Given the description of an element on the screen output the (x, y) to click on. 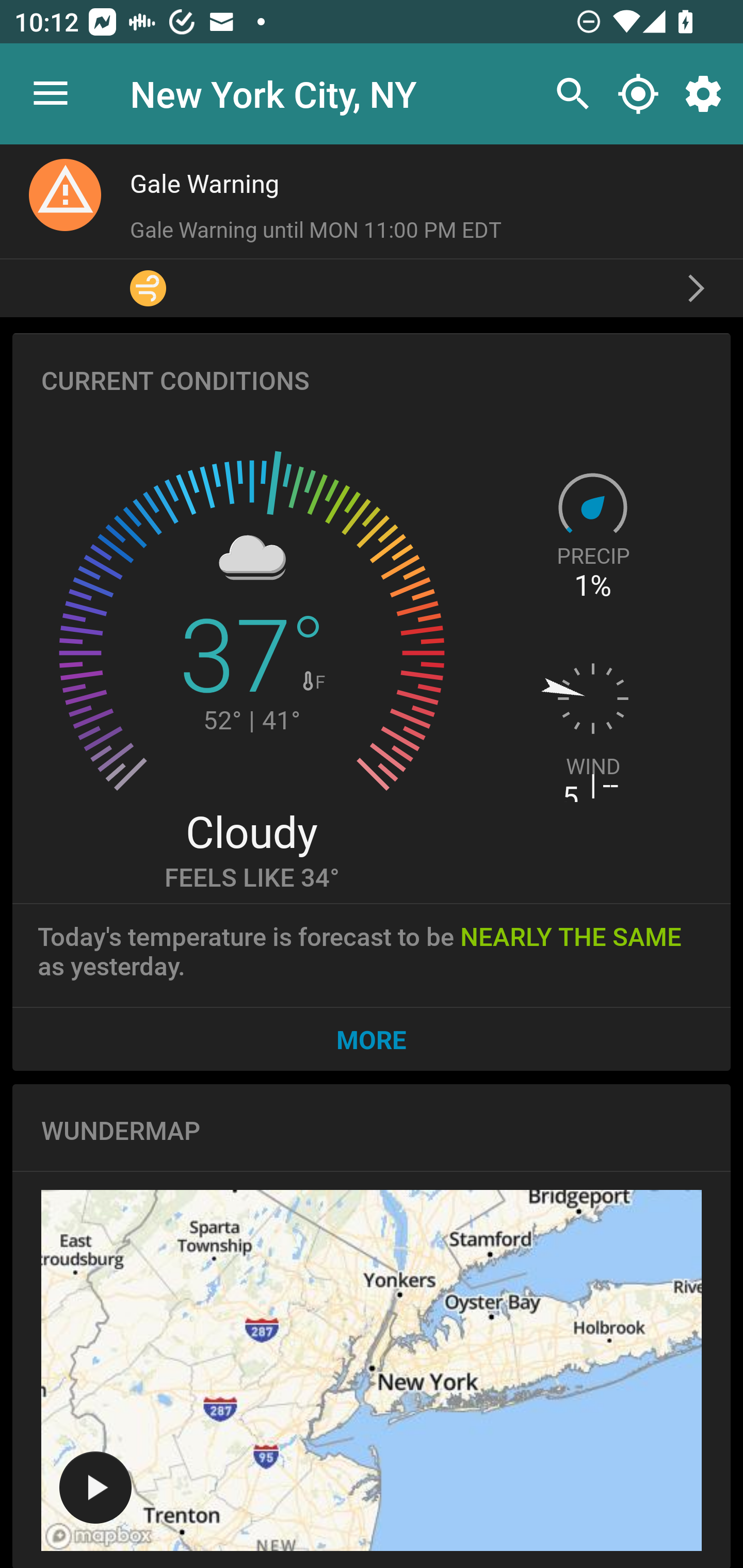
Press to open location manager. (50, 93)
Search for location (567, 94)
Select GPS location (637, 94)
Settings (706, 94)
New York City, NY (273, 92)
Gale Warning Gale Warning until MON 11:00 PM EDT (371, 230)
1% (592, 586)
Cloudy (251, 830)
MORE (371, 1039)
Weather Map (371, 1370)
Weather Map (95, 1487)
